Given the description of an element on the screen output the (x, y) to click on. 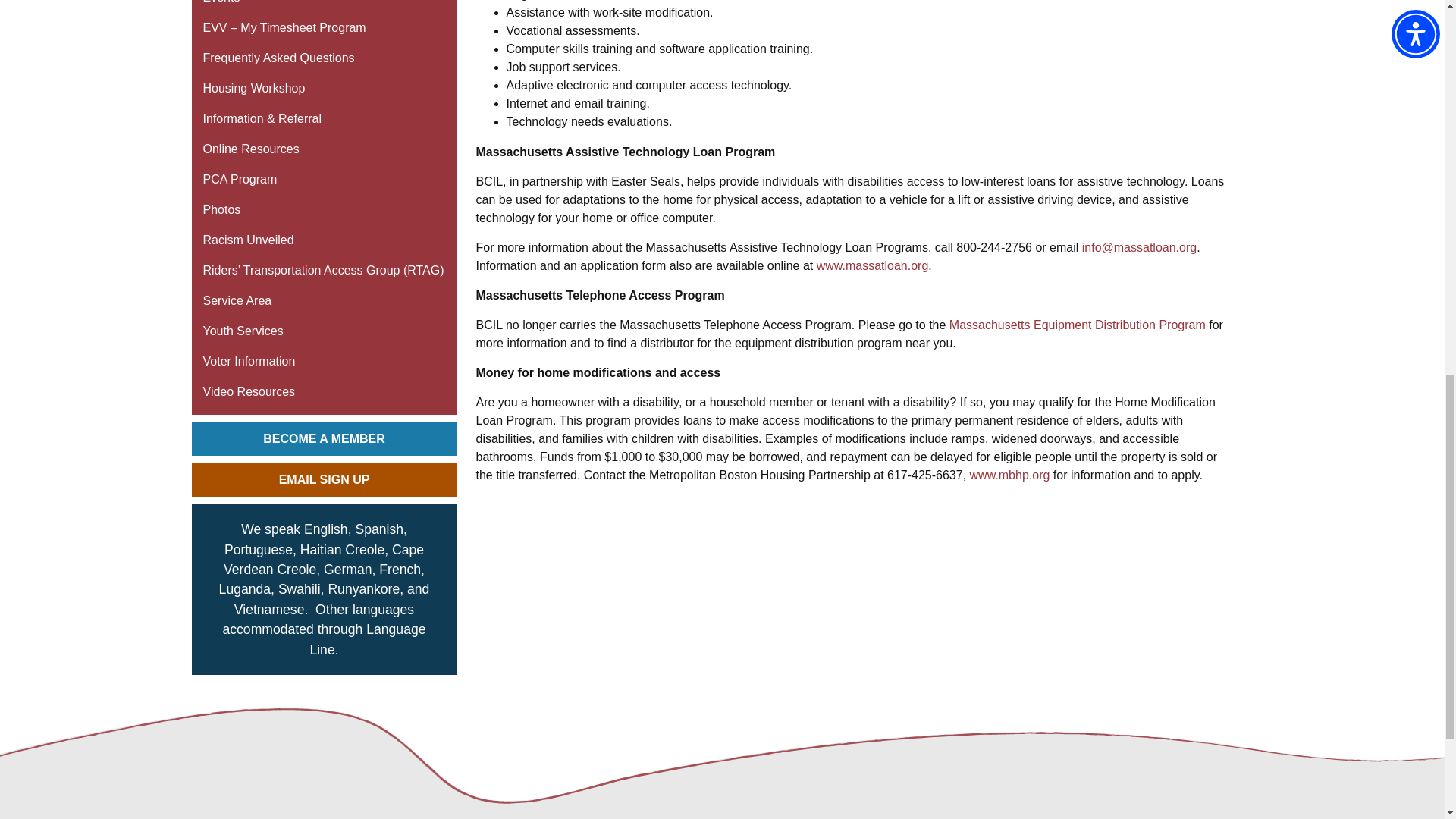
Events (323, 6)
Frequently Asked Questions (323, 58)
PCA Program (323, 179)
Housing Workshop (323, 88)
Photos (323, 209)
Online Resources (323, 149)
